Given the description of an element on the screen output the (x, y) to click on. 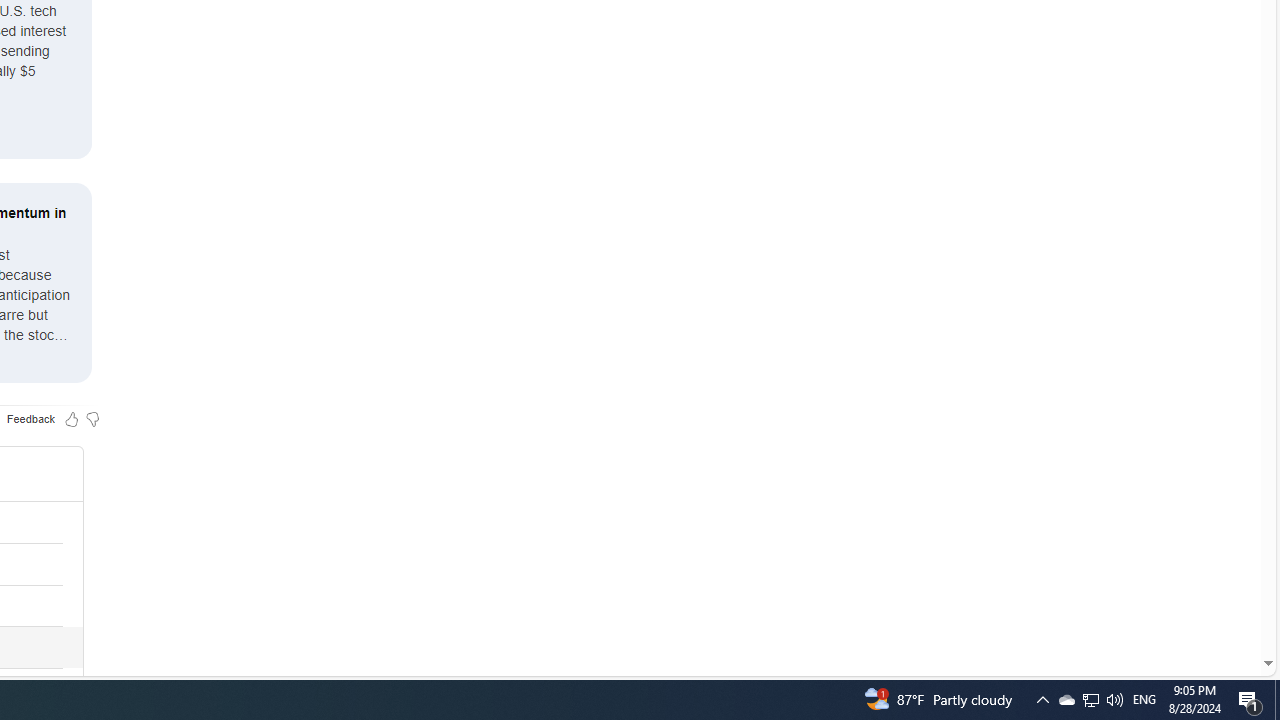
Search more (1222, 604)
Feedback Like (71, 418)
AutomationID: mfa_root (1192, 603)
Feedback Dislike (91, 418)
